Given the description of an element on the screen output the (x, y) to click on. 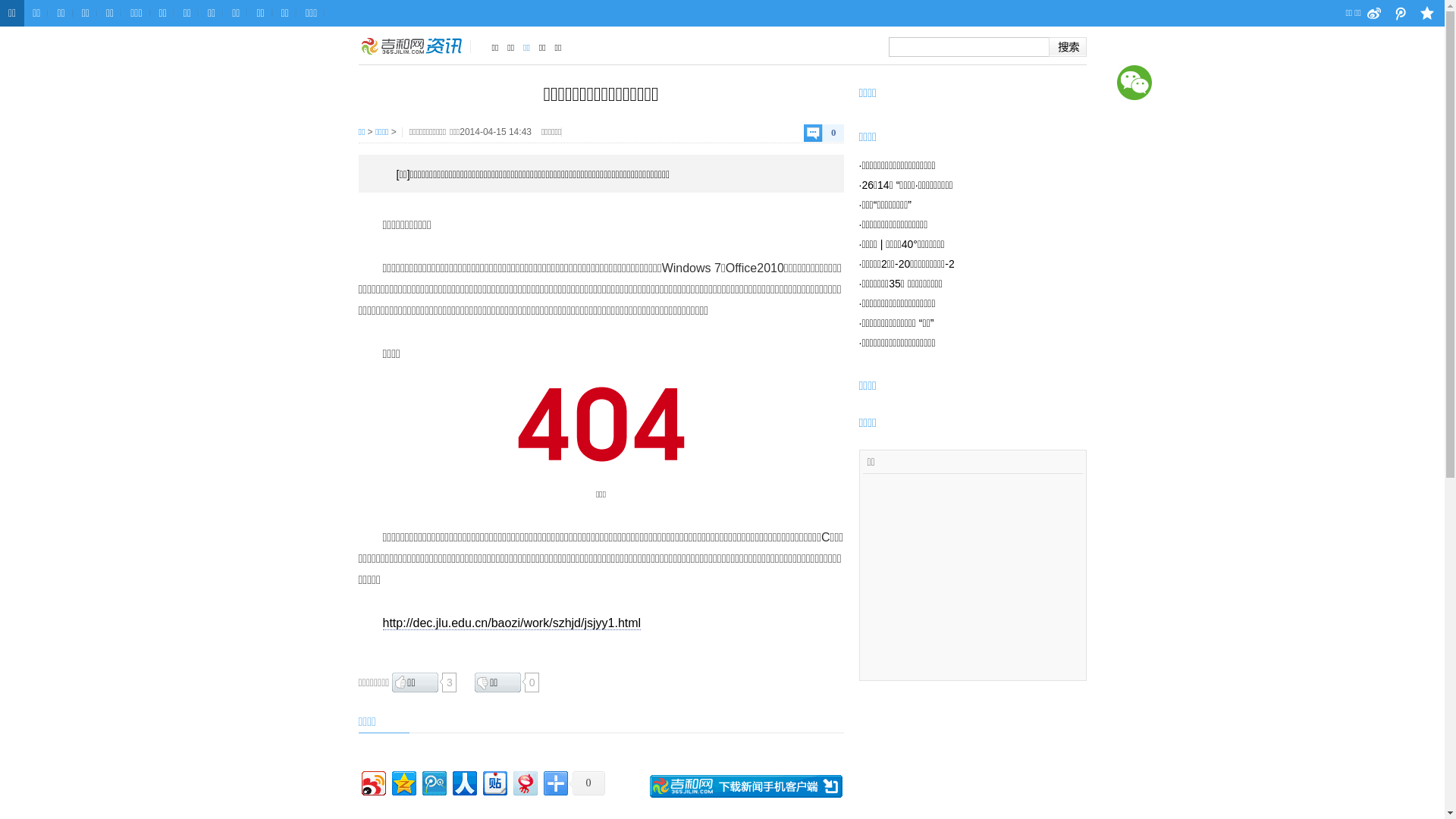
0 Element type: text (823, 132)
http://dec.jlu.edu.cn/baozi/work/szhjd/jsjyy1.html Element type: text (511, 622)
0 Element type: text (586, 782)
